Given the description of an element on the screen output the (x, y) to click on. 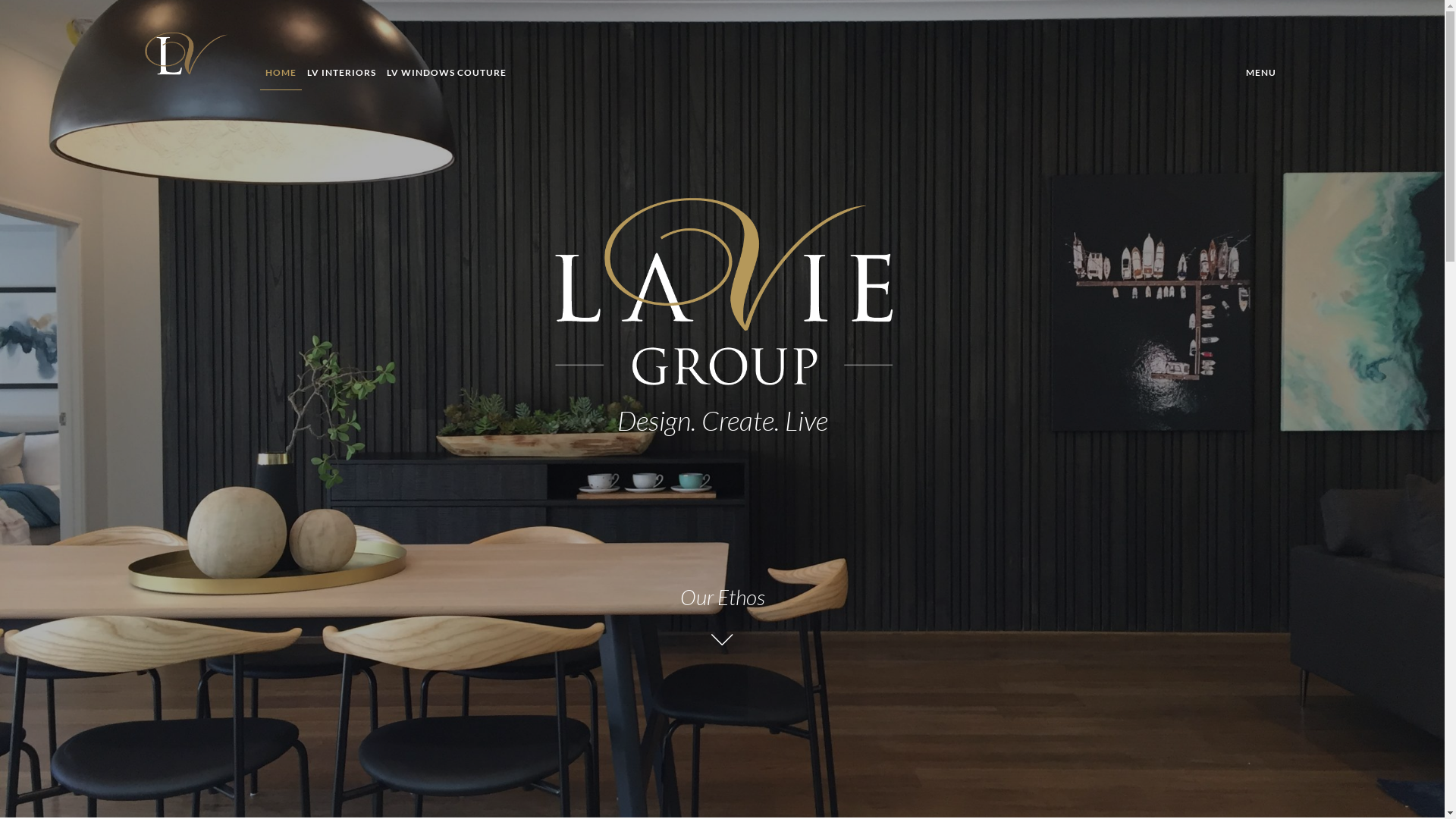
HOME Element type: text (280, 72)
LV INTERIORS Element type: text (341, 72)
MENU Element type: text (1264, 72)
LV WINDOWS COUTURE Element type: text (446, 72)
